Given the description of an element on the screen output the (x, y) to click on. 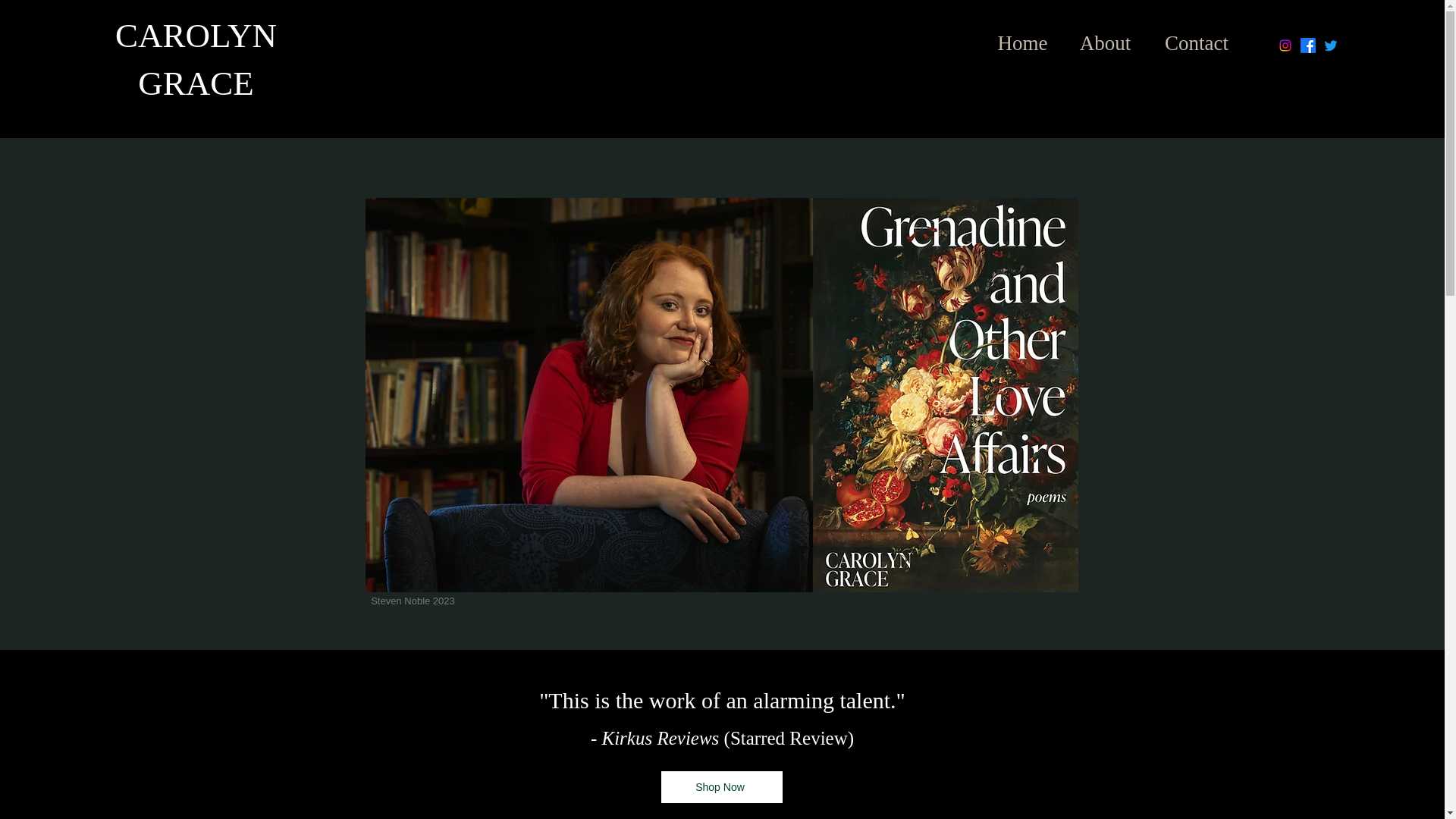
Contact (1196, 36)
Home (1022, 36)
CAROLYN GRACE (195, 59)
About (1105, 36)
Shop Now (722, 787)
"This is the work of an alarming talent." (721, 699)
